Given the description of an element on the screen output the (x, y) to click on. 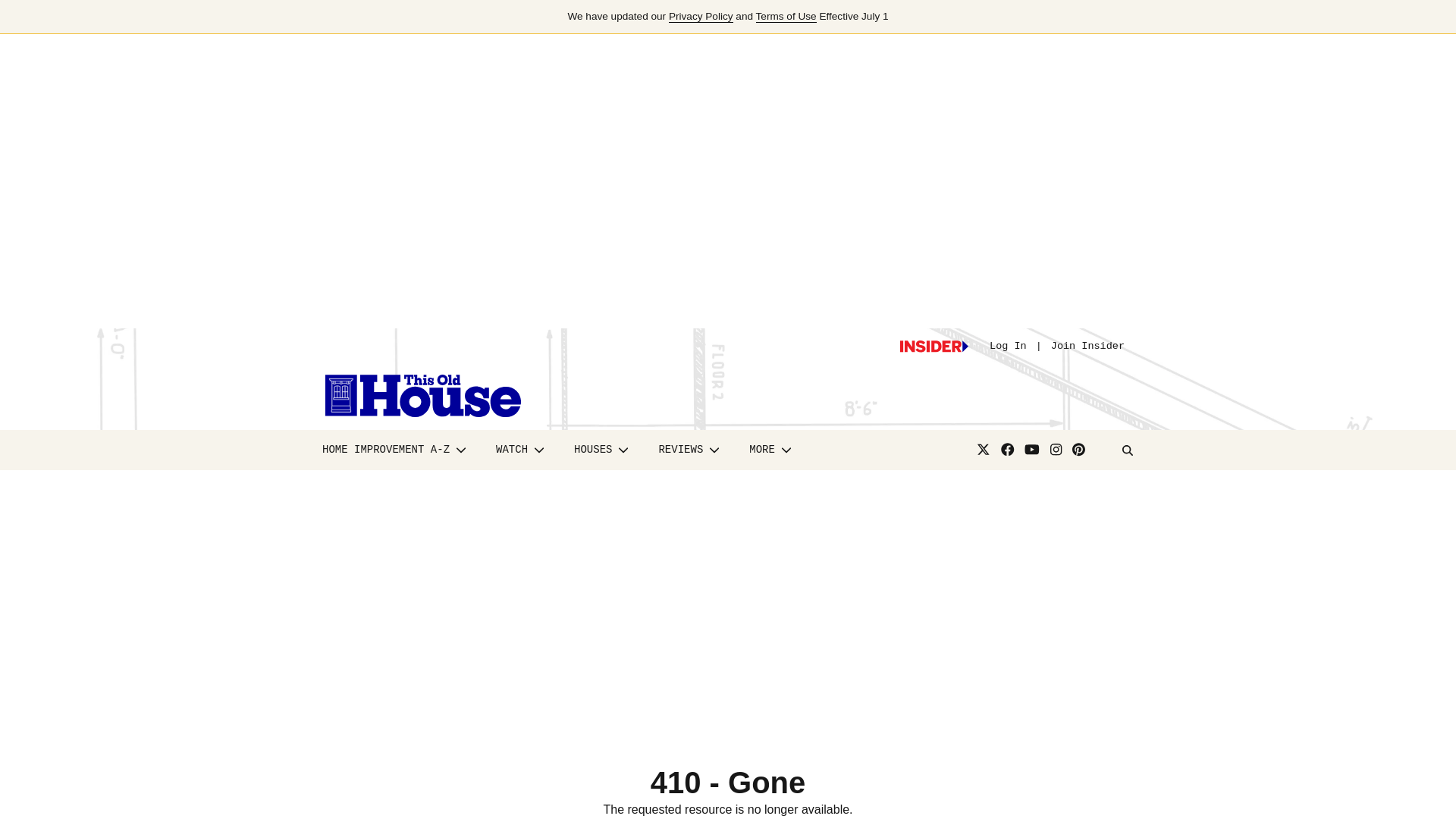
Log in or sign up (933, 346)
Log In (1008, 346)
Privacy Policy (700, 16)
Terms of Use (785, 16)
Join Insider (1087, 346)
